Given the description of an element on the screen output the (x, y) to click on. 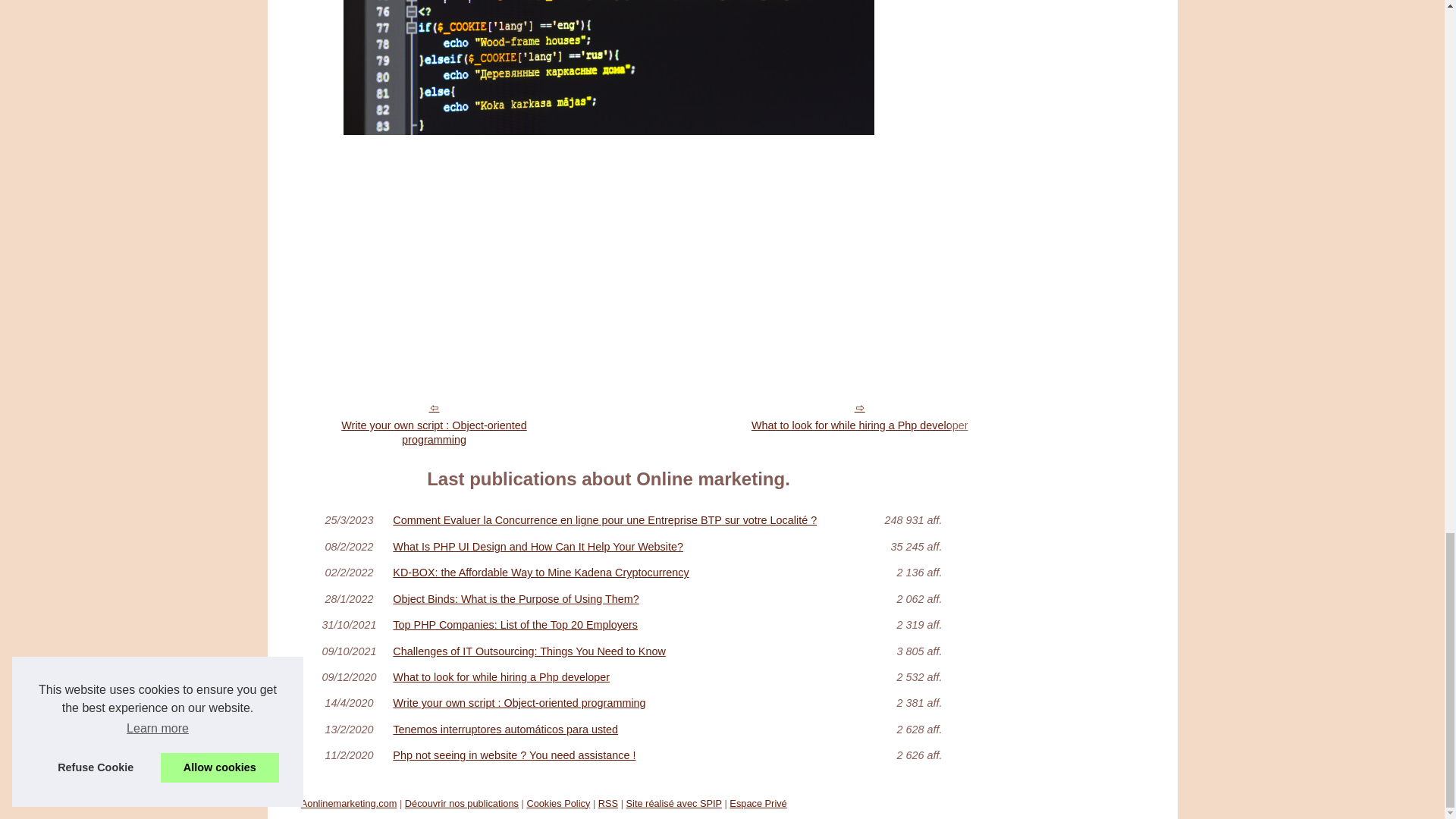
What to look for while hiring a Php developer (859, 416)
Php not seeing in website ? You need assistance ! (623, 755)
What to look for while hiring a Php developer (623, 676)
Object Binds: What is the Purpose of Using Them? (623, 598)
Php not seeing in website ? You need assistance ! (623, 755)
KD-BOX: the Affordable Way to Mine Kadena Cryptocurrency (623, 572)
Top PHP Companies: List of the Top 20 Employers (623, 624)
Top PHP Companies: List of the Top 20 Employers (623, 624)
KD-BOX: the Affordable Way to Mine Kadena Cryptocurrency (623, 572)
What Is PHP UI Design and How Can It Help Your Website? (623, 546)
